Given the description of an element on the screen output the (x, y) to click on. 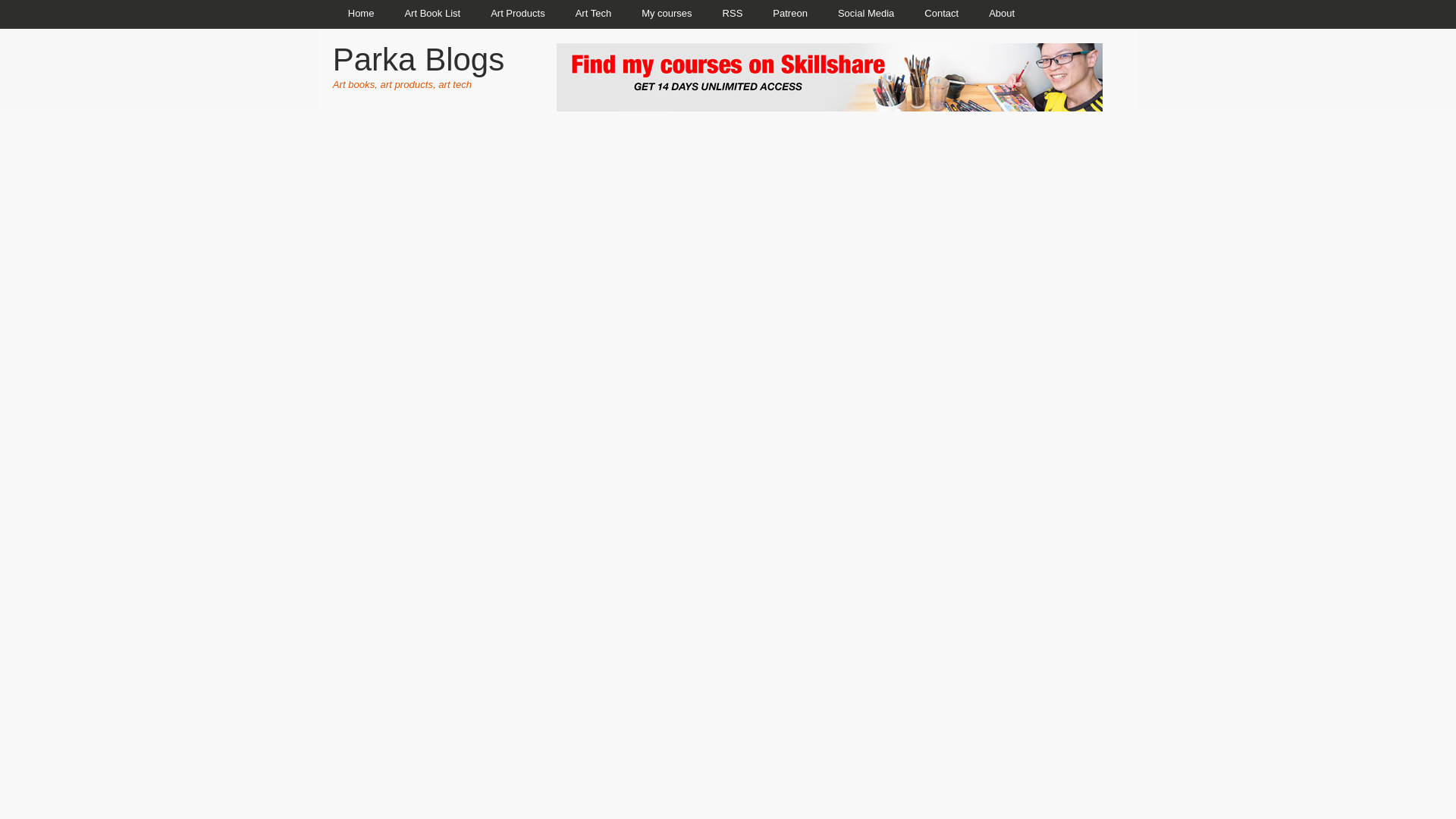
RSS (732, 14)
Contact (941, 14)
RSS (732, 14)
Home (361, 14)
My courses (666, 14)
Drawing courses (666, 14)
Art Products (518, 14)
Art products and materials review (518, 14)
Social Media (865, 14)
Art Tech (593, 14)
